Given the description of an element on the screen output the (x, y) to click on. 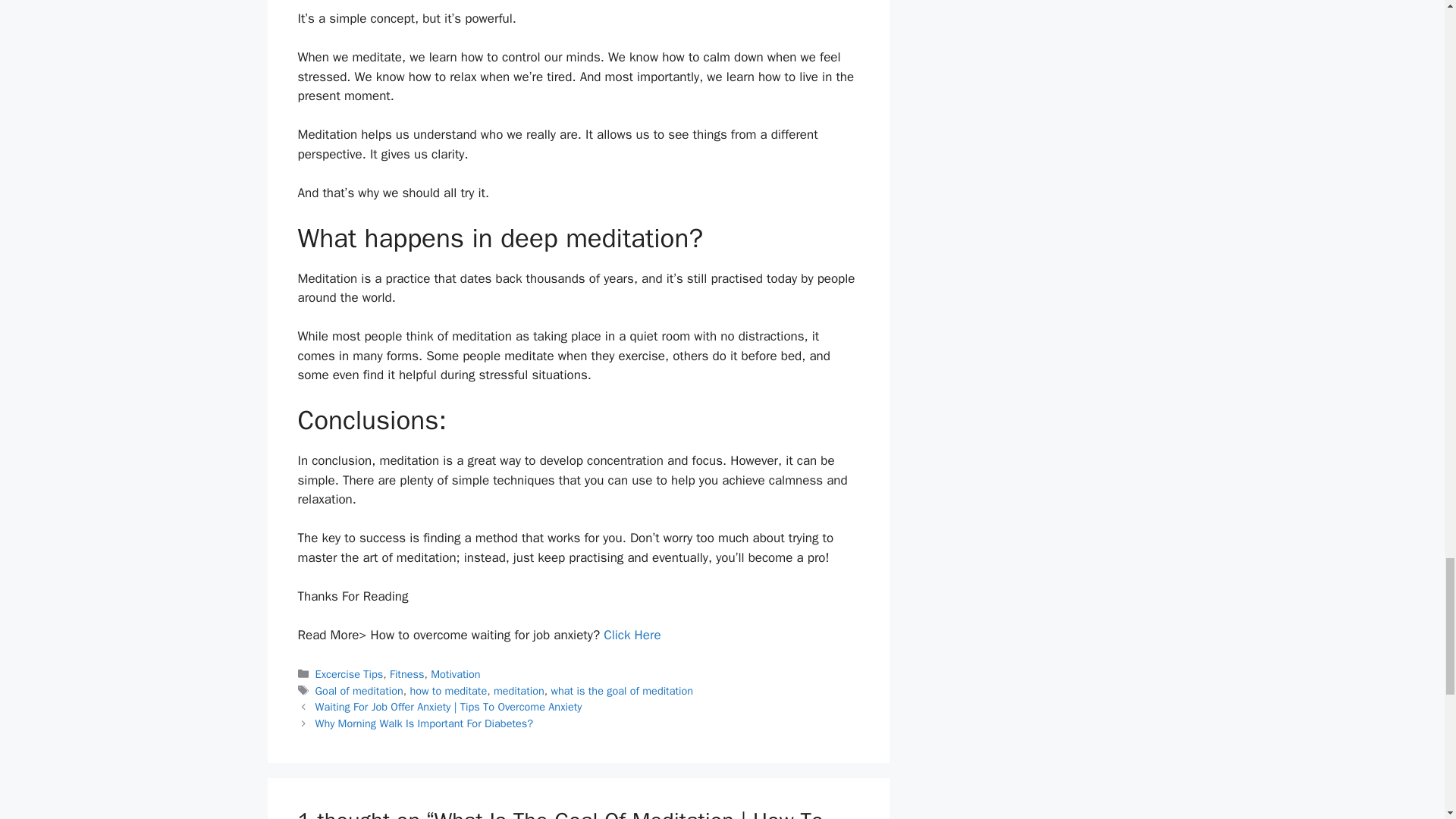
Click Here (632, 634)
how to meditate (447, 690)
Goal of meditation (359, 690)
Motivation (455, 673)
Excercise Tips (349, 673)
meditation (518, 690)
what is the goal of meditation (621, 690)
Fitness (407, 673)
